Given the description of an element on the screen output the (x, y) to click on. 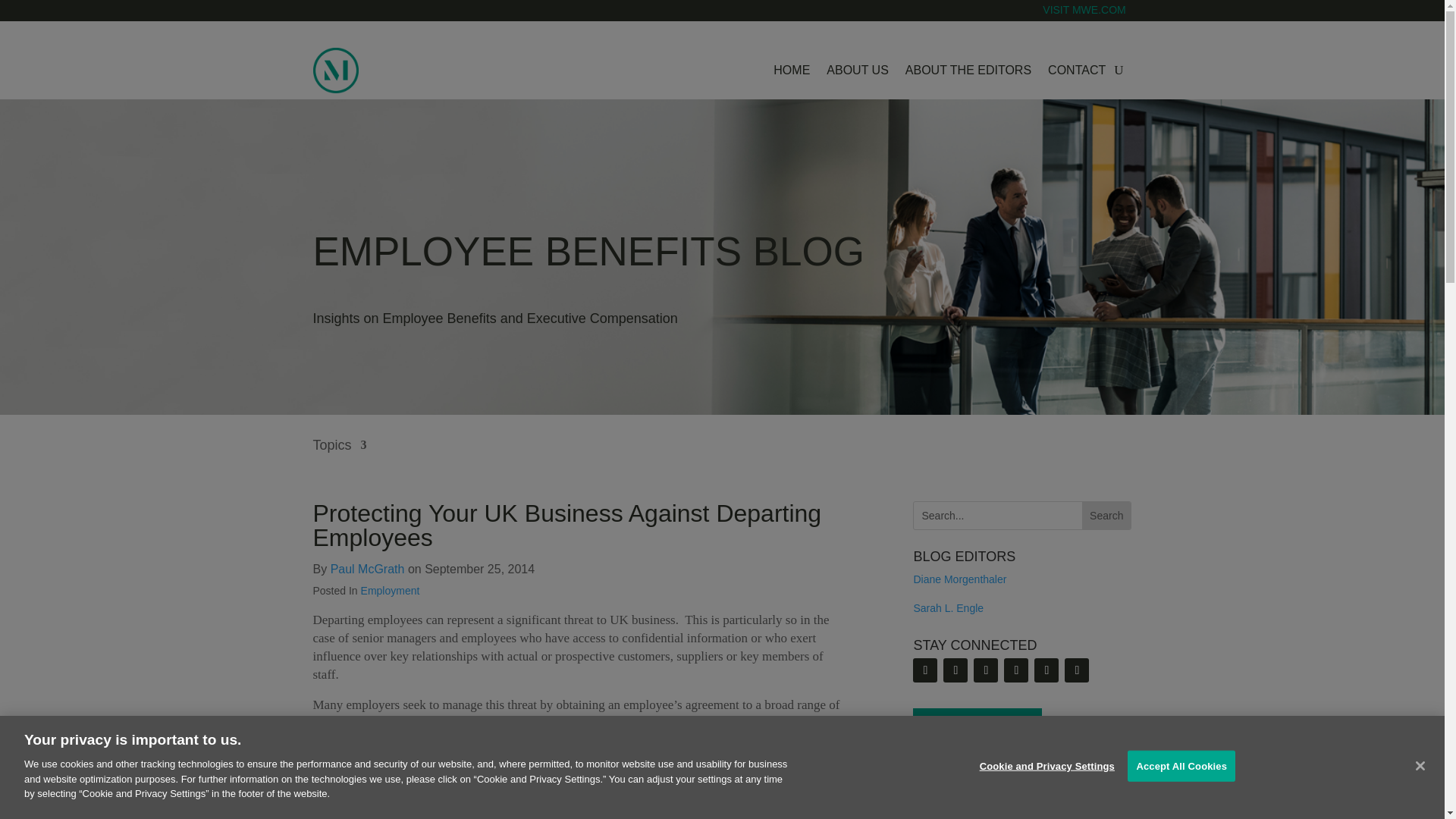
Search (1106, 515)
Follow on X (985, 670)
Follow on Facebook (1045, 670)
HOME (791, 70)
Follow on LinkedIn (955, 670)
Follow on Youtube (1015, 670)
ABOUT THE EDITORS (967, 70)
Follow on XING (1076, 670)
Posts by Paul McGrath (367, 568)
CONTACT (1076, 70)
Follow on RSS (924, 670)
Search (1106, 515)
VISIT MWE.COM   (1086, 20)
Topics (339, 455)
ABOUT US (857, 70)
